Given the description of an element on the screen output the (x, y) to click on. 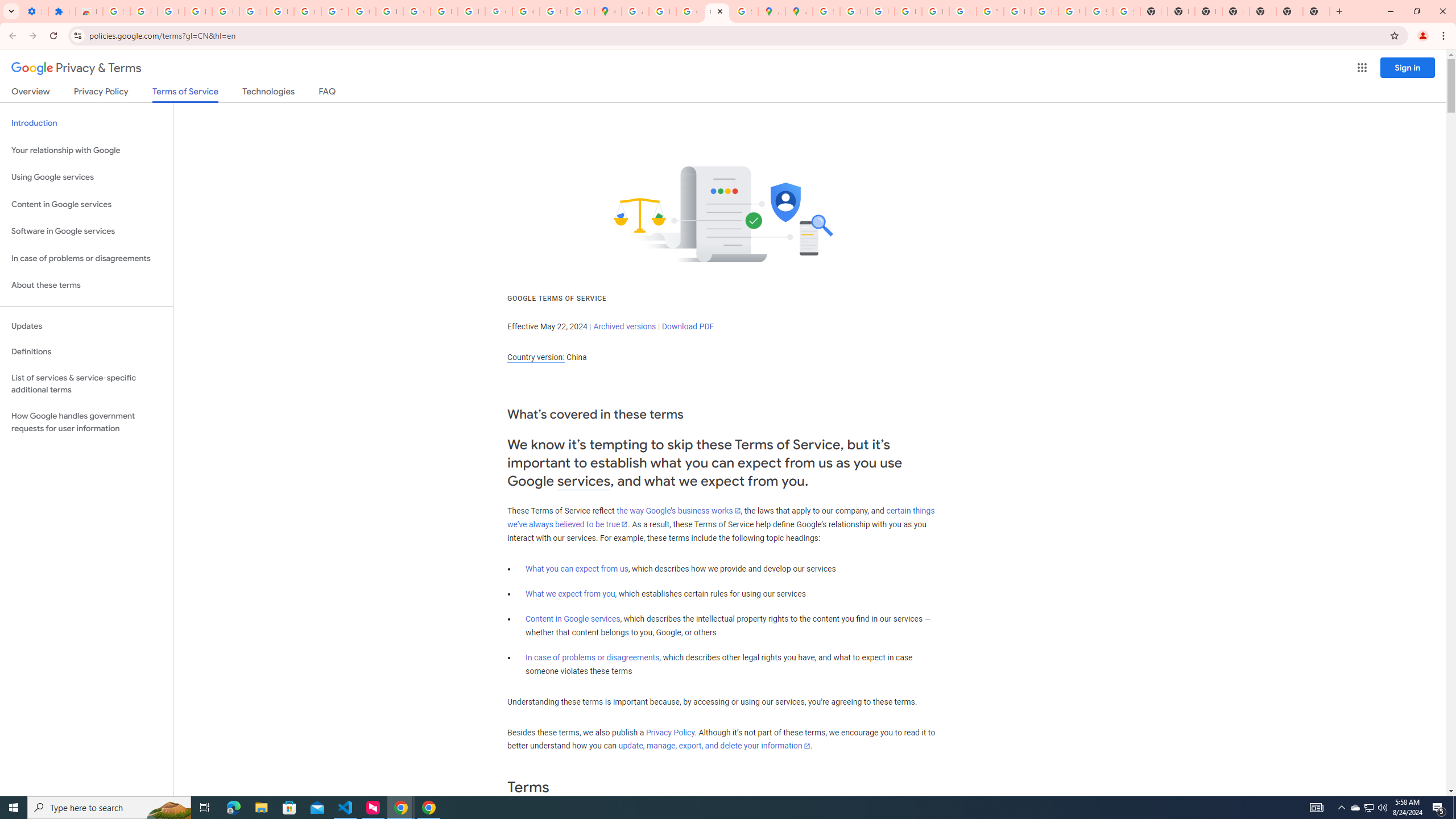
Delete photos & videos - Computer - Google Photos Help (170, 11)
New Tab (1236, 11)
About these terms (86, 284)
Sign in - Google Accounts (826, 11)
services (583, 480)
Safety in Our Products - Google Safety Center (743, 11)
update, manage, export, and delete your information (714, 746)
